Given the description of an element on the screen output the (x, y) to click on. 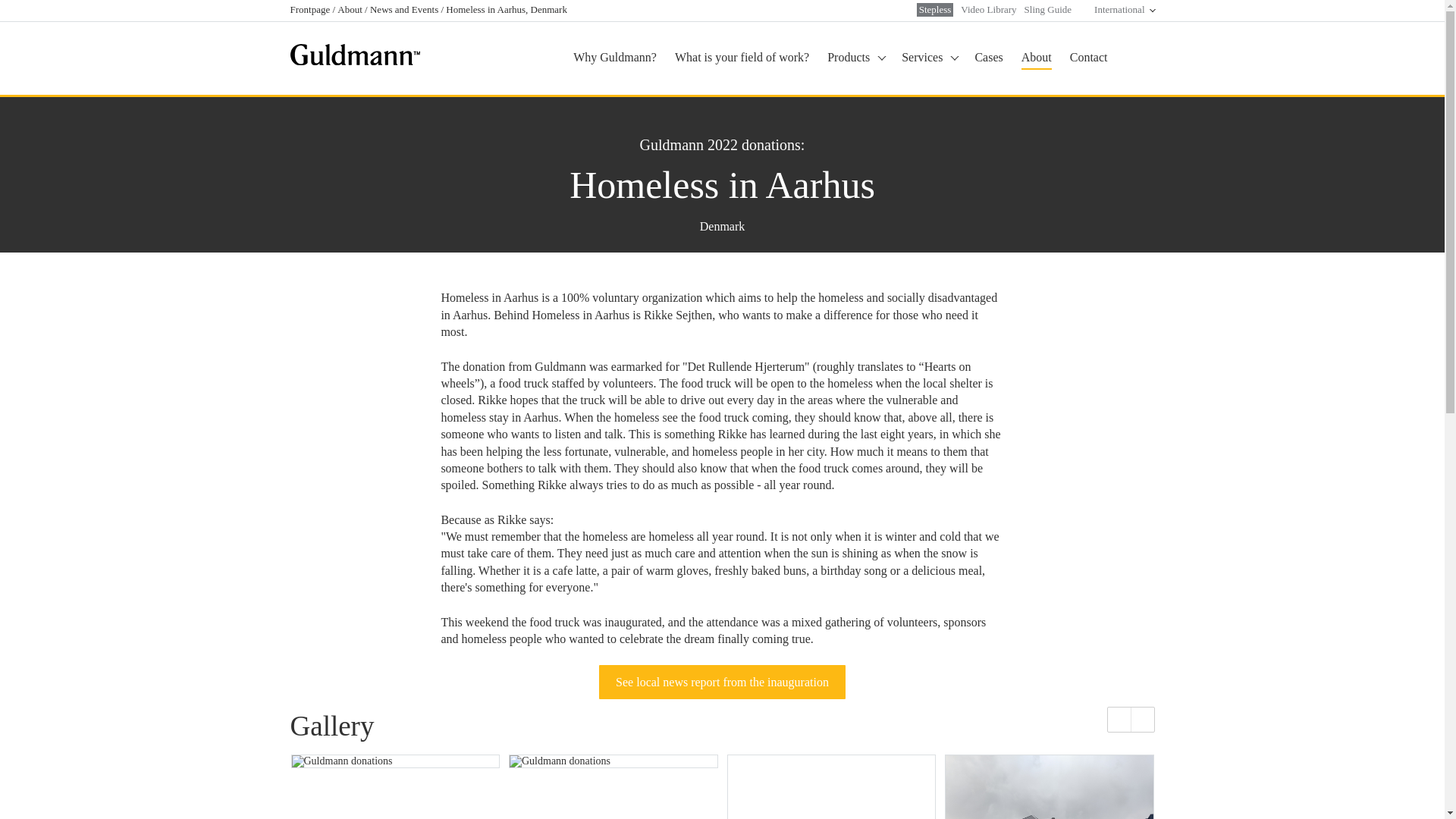
About  (351, 9)
Frontpage  (310, 9)
